Given the description of an element on the screen output the (x, y) to click on. 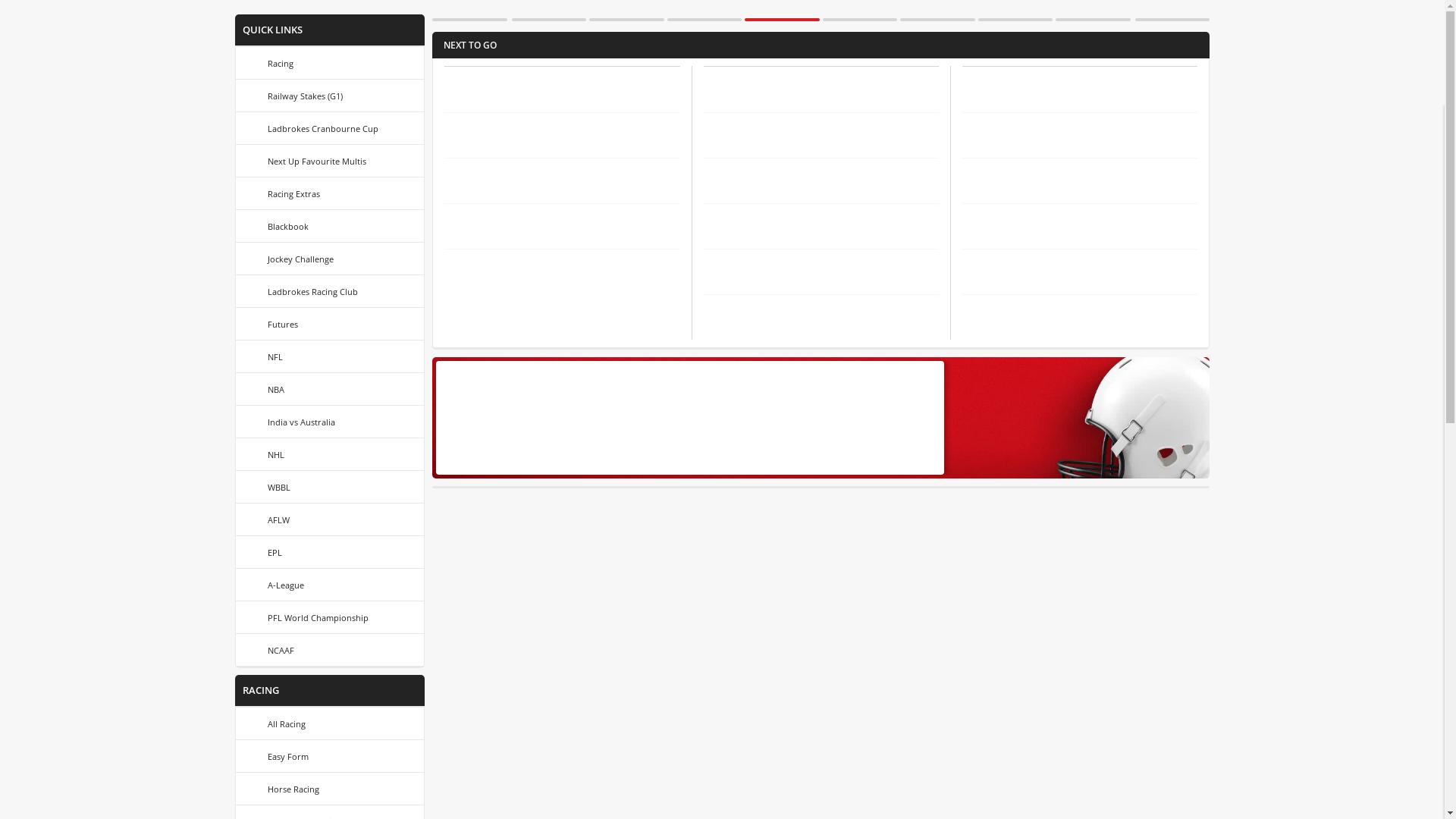
Ladbrokes Racing Club Element type: text (329, 291)
Jockey Challenge Element type: text (329, 258)
All Racing Element type: text (329, 723)
Racing Extras Element type: text (329, 193)
EPL Element type: text (329, 551)
A-League Element type: text (329, 584)
AFLW Element type: text (329, 519)
Futures Element type: text (329, 323)
Ladbrokes Cranbourne Cup Element type: text (329, 128)
India vs Australia Element type: text (329, 421)
Blackbook Element type: text (329, 225)
Railway Stakes (G1) Element type: text (329, 95)
Next Up Favourite Multis Element type: text (329, 160)
Easy Form Element type: text (329, 755)
WBBL Element type: text (329, 486)
PFL World Championship Element type: text (329, 617)
NCAAF Element type: text (329, 649)
NFL Element type: text (329, 356)
NBA Element type: text (329, 388)
Horse Racing Element type: text (329, 788)
NHL Element type: text (329, 454)
Racing Element type: text (329, 62)
